Given the description of an element on the screen output the (x, y) to click on. 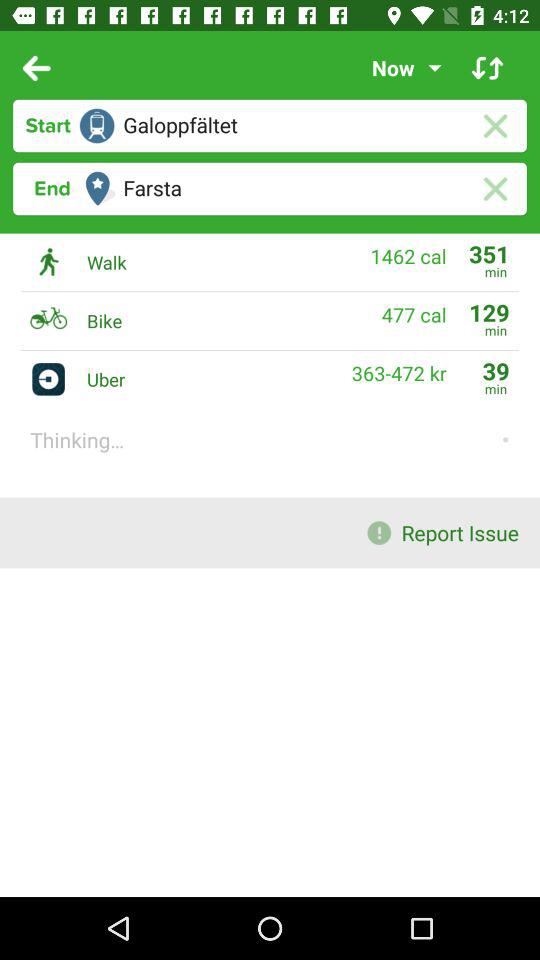
delete entry (494, 188)
